Given the description of an element on the screen output the (x, y) to click on. 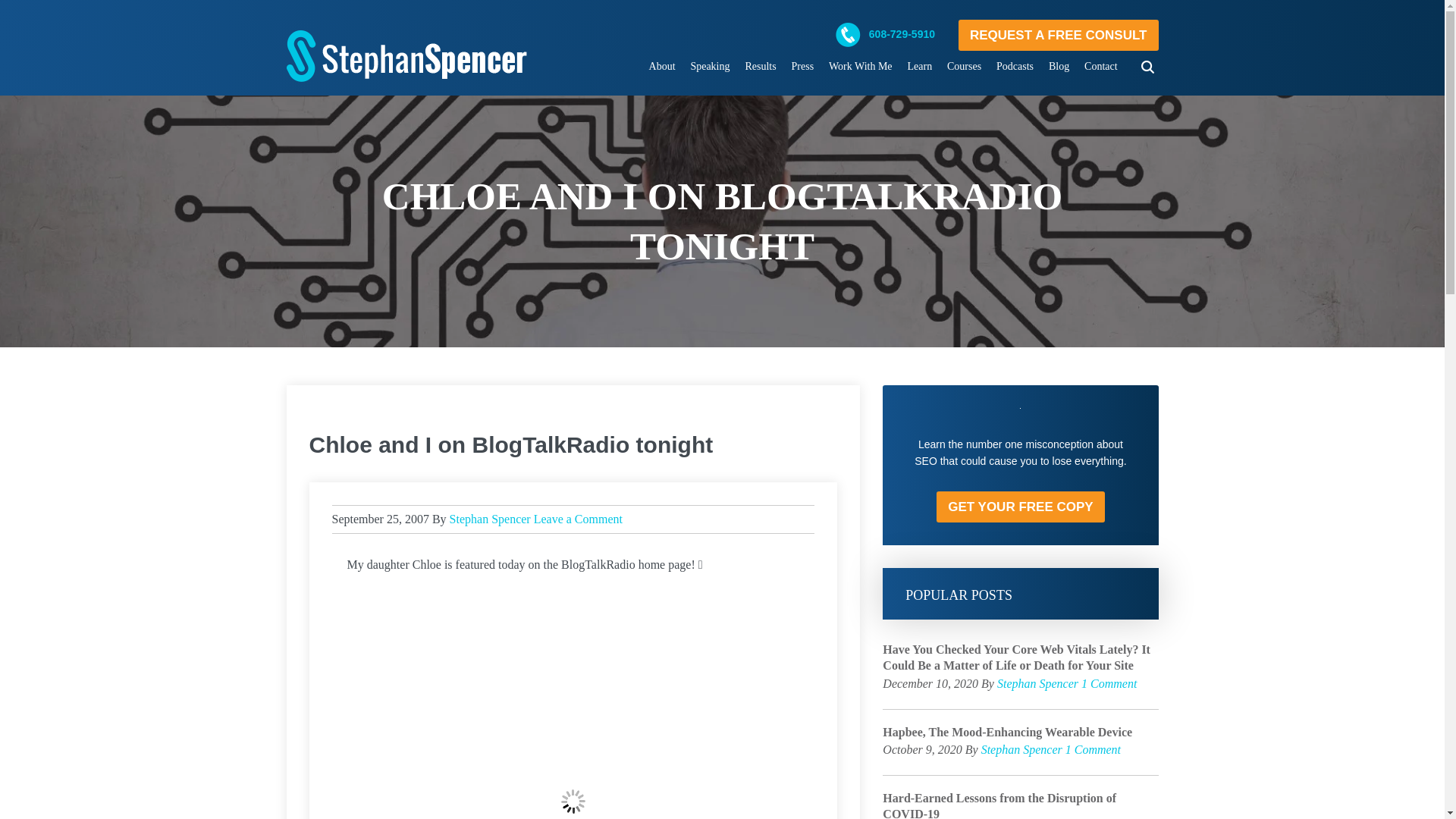
608-729-5910 (893, 33)
Hard-Earned Lessons from the Disruption of COVID-19 (1019, 805)
REQUEST A FREE CONSULT (1058, 34)
Hapbee, The Mood-Enhancing Wearable Device (1019, 732)
Speaking (709, 66)
Work With Me (860, 66)
About (662, 66)
Stephan Spencer (406, 48)
Press (803, 66)
